Given the description of an element on the screen output the (x, y) to click on. 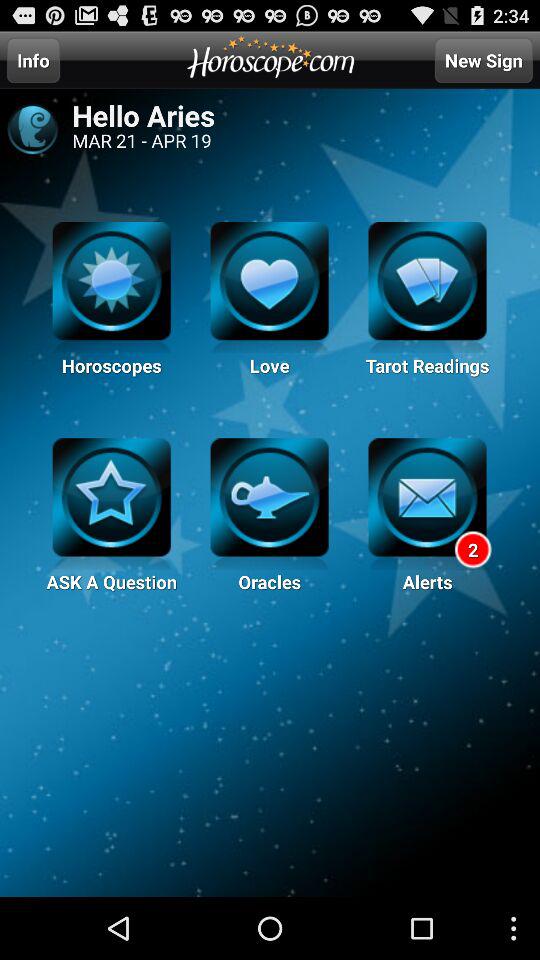
mail inbox (427, 503)
